Given the description of an element on the screen output the (x, y) to click on. 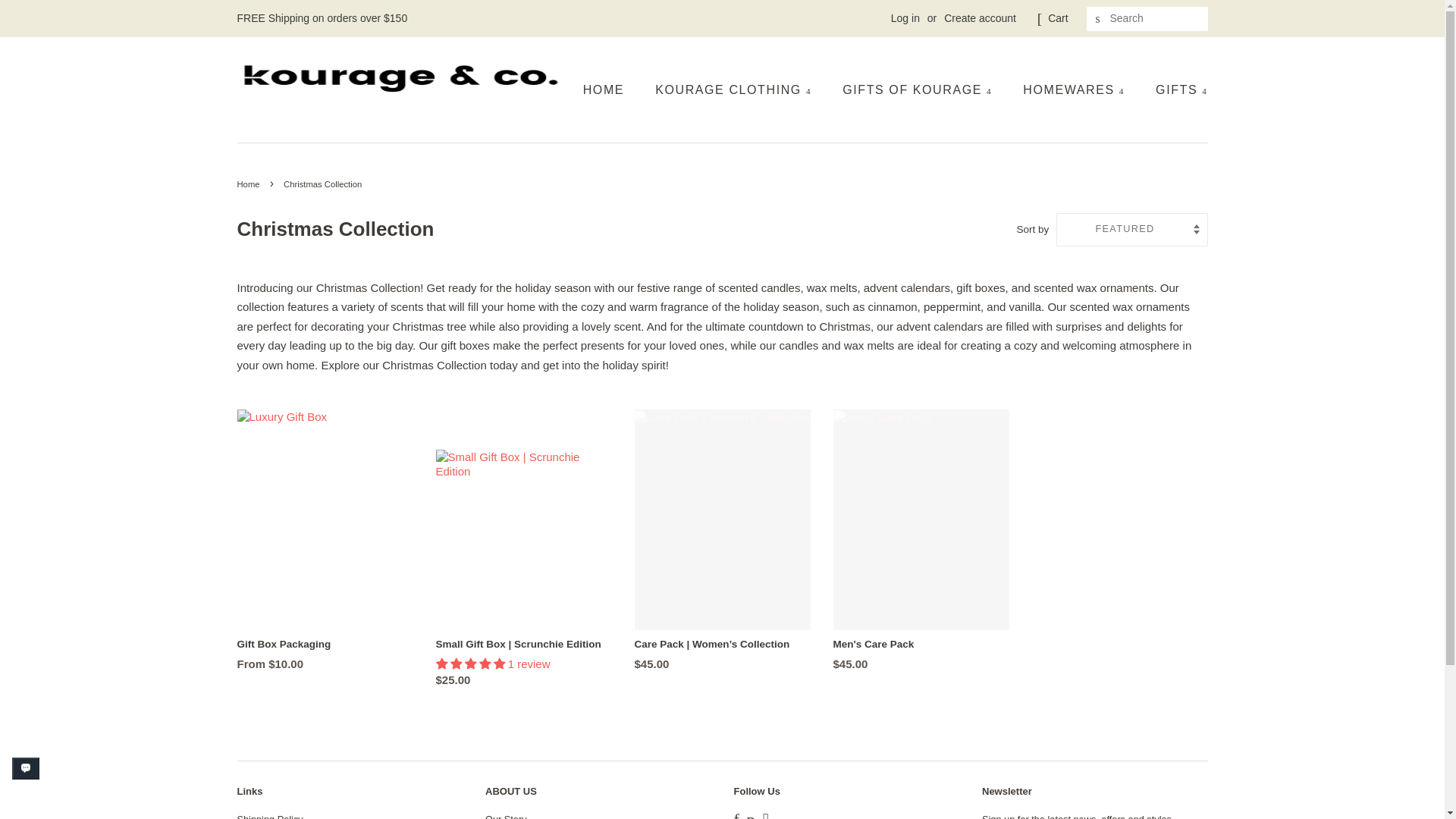
Back to the frontpage (249, 184)
SEARCH (1097, 18)
Log in (905, 18)
Create account (979, 18)
Cart (1057, 18)
